Given the description of an element on the screen output the (x, y) to click on. 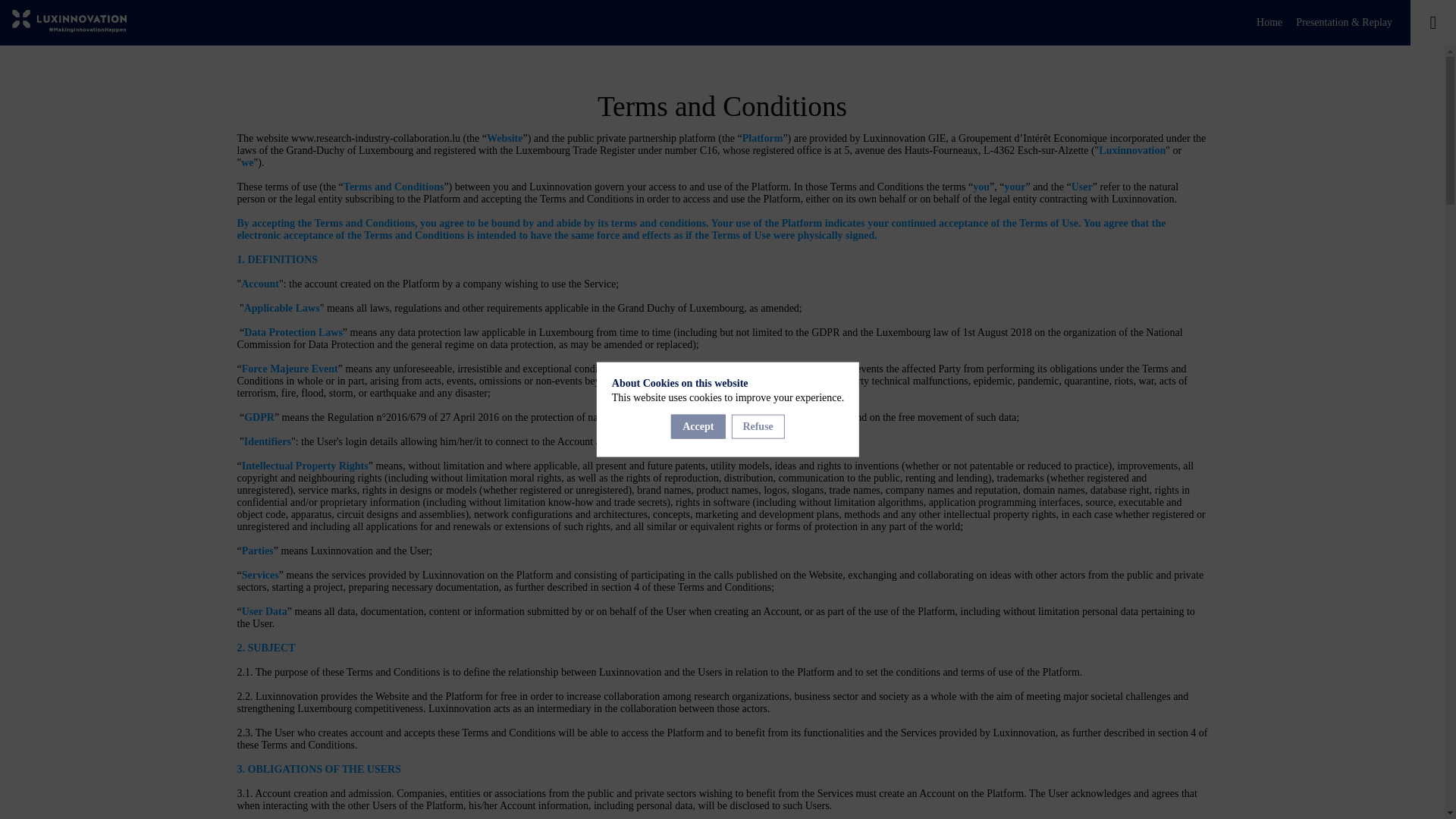
Accept (698, 426)
Home (1270, 22)
Refuse (757, 426)
